Given the description of an element on the screen output the (x, y) to click on. 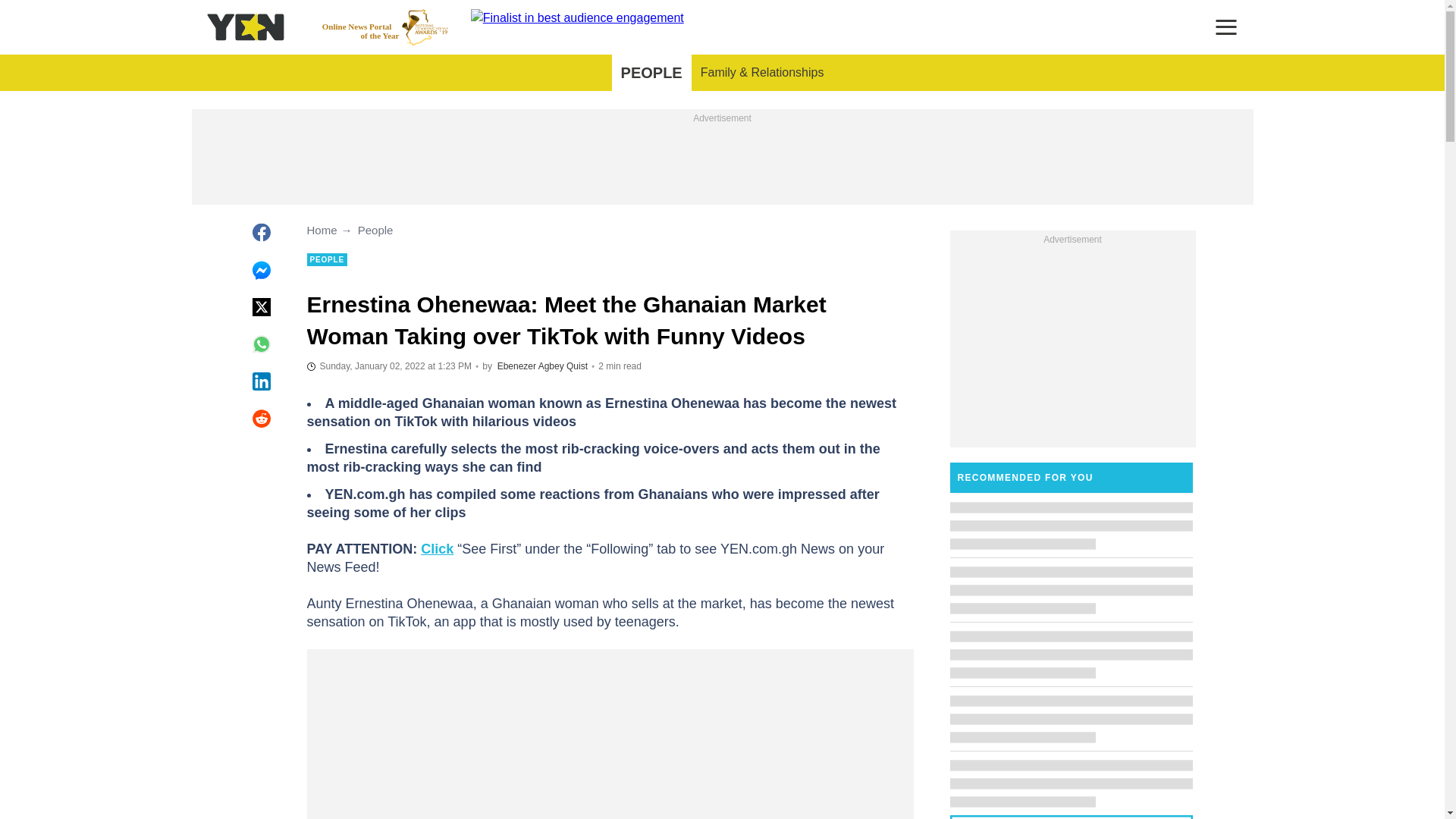
Author page (542, 366)
PEOPLE (651, 72)
2022-01-02T13:23:46Z (388, 366)
